Given the description of an element on the screen output the (x, y) to click on. 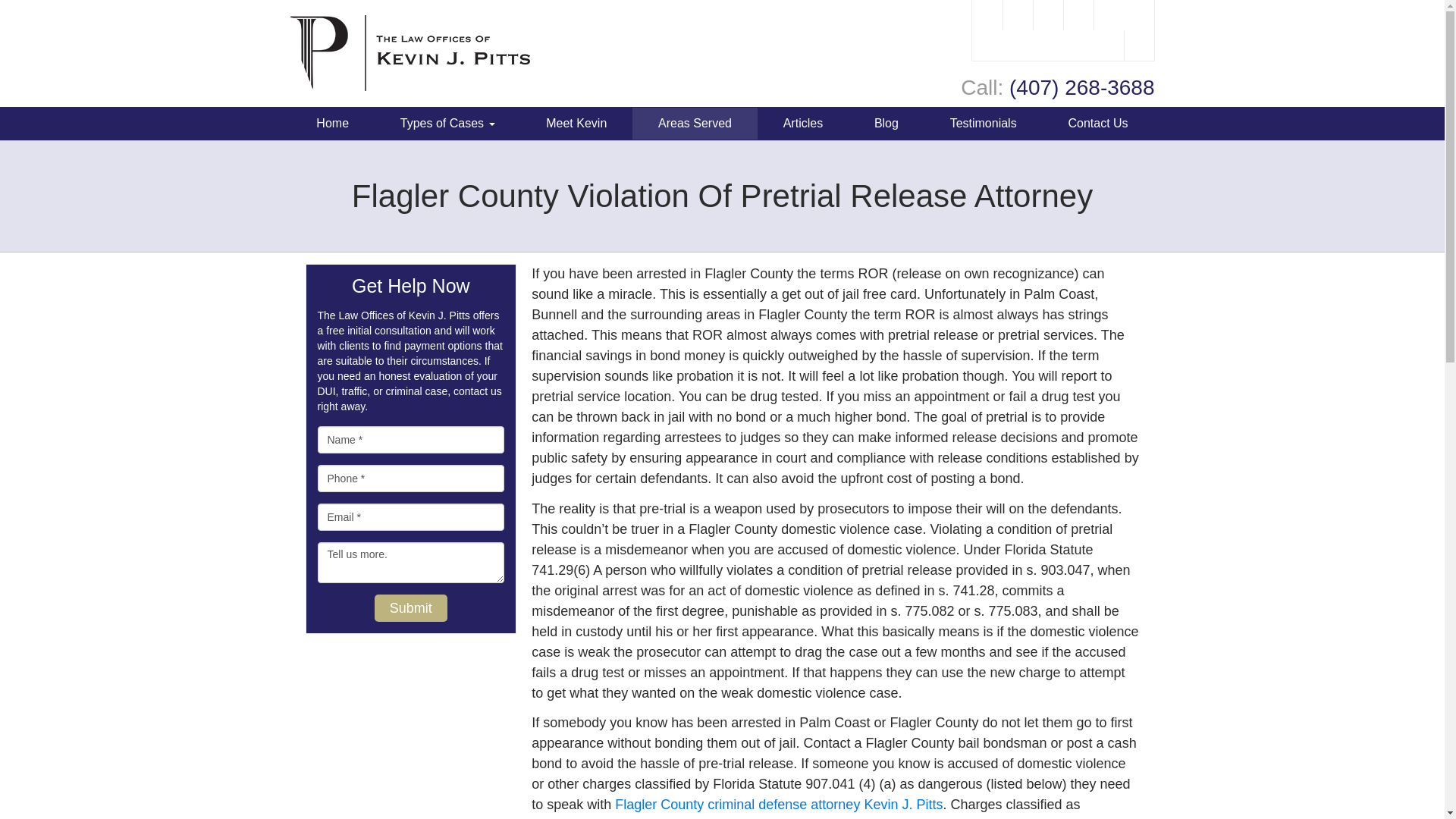
Articles (802, 123)
Blog (886, 123)
Contact Us (1098, 123)
Submit (410, 607)
Types of Cases (446, 123)
Home (332, 123)
Testimonials (983, 123)
Areas Served (694, 123)
Flagler County criminal defense attorney Kevin J. Pitts (778, 804)
Meet Kevin (575, 123)
